Given the description of an element on the screen output the (x, y) to click on. 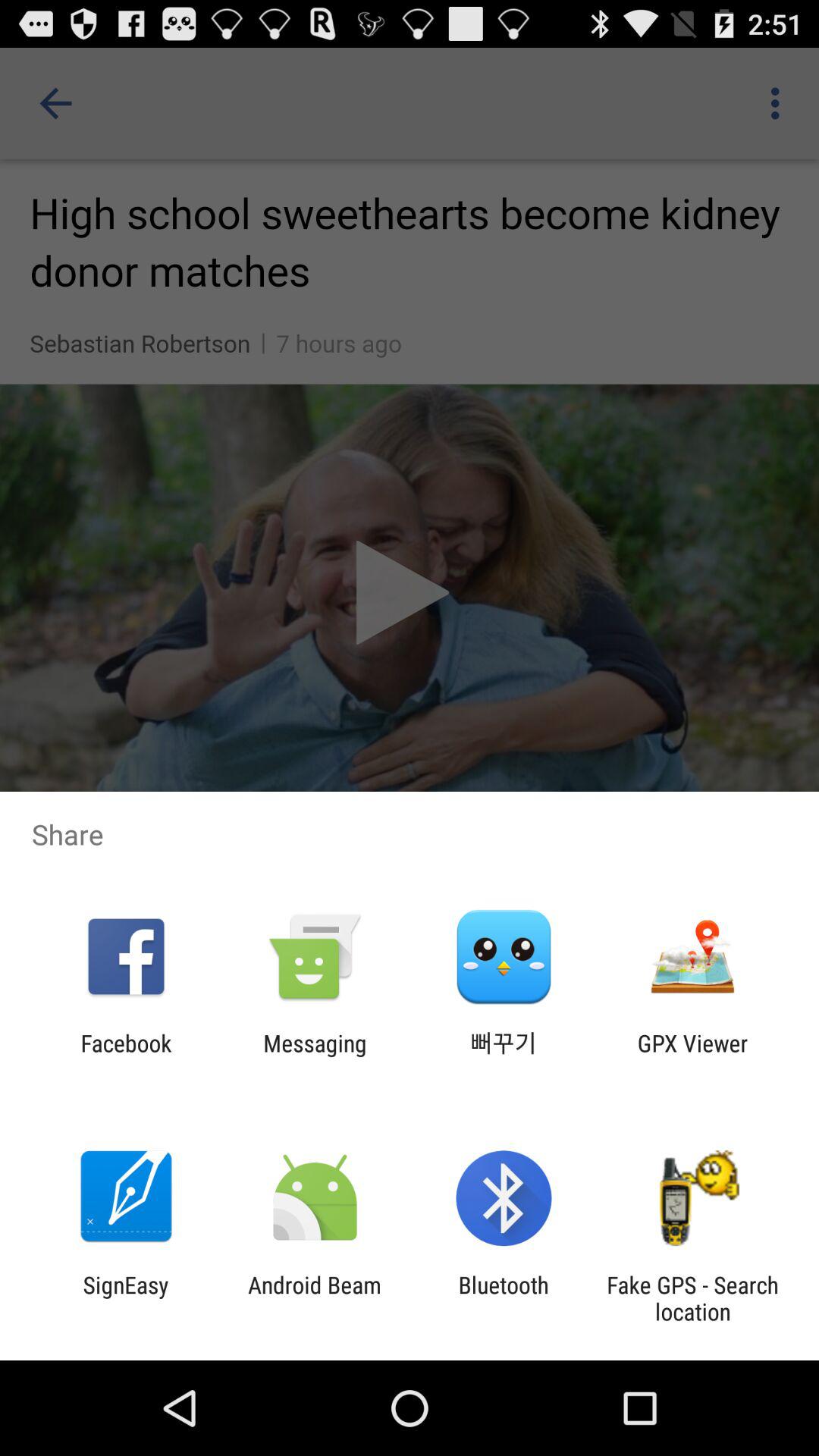
flip until messaging (314, 1056)
